Given the description of an element on the screen output the (x, y) to click on. 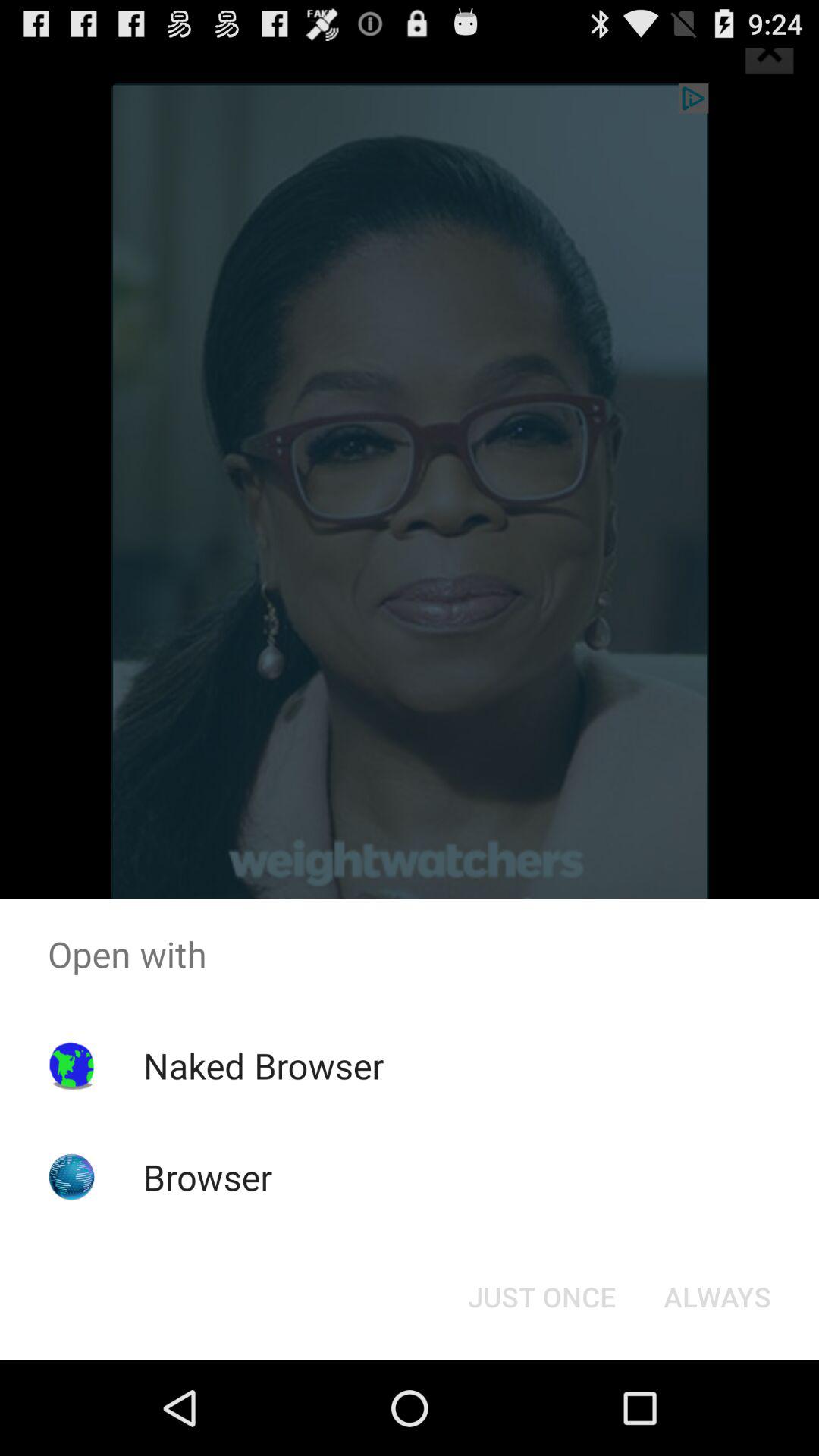
scroll to just once (541, 1296)
